Given the description of an element on the screen output the (x, y) to click on. 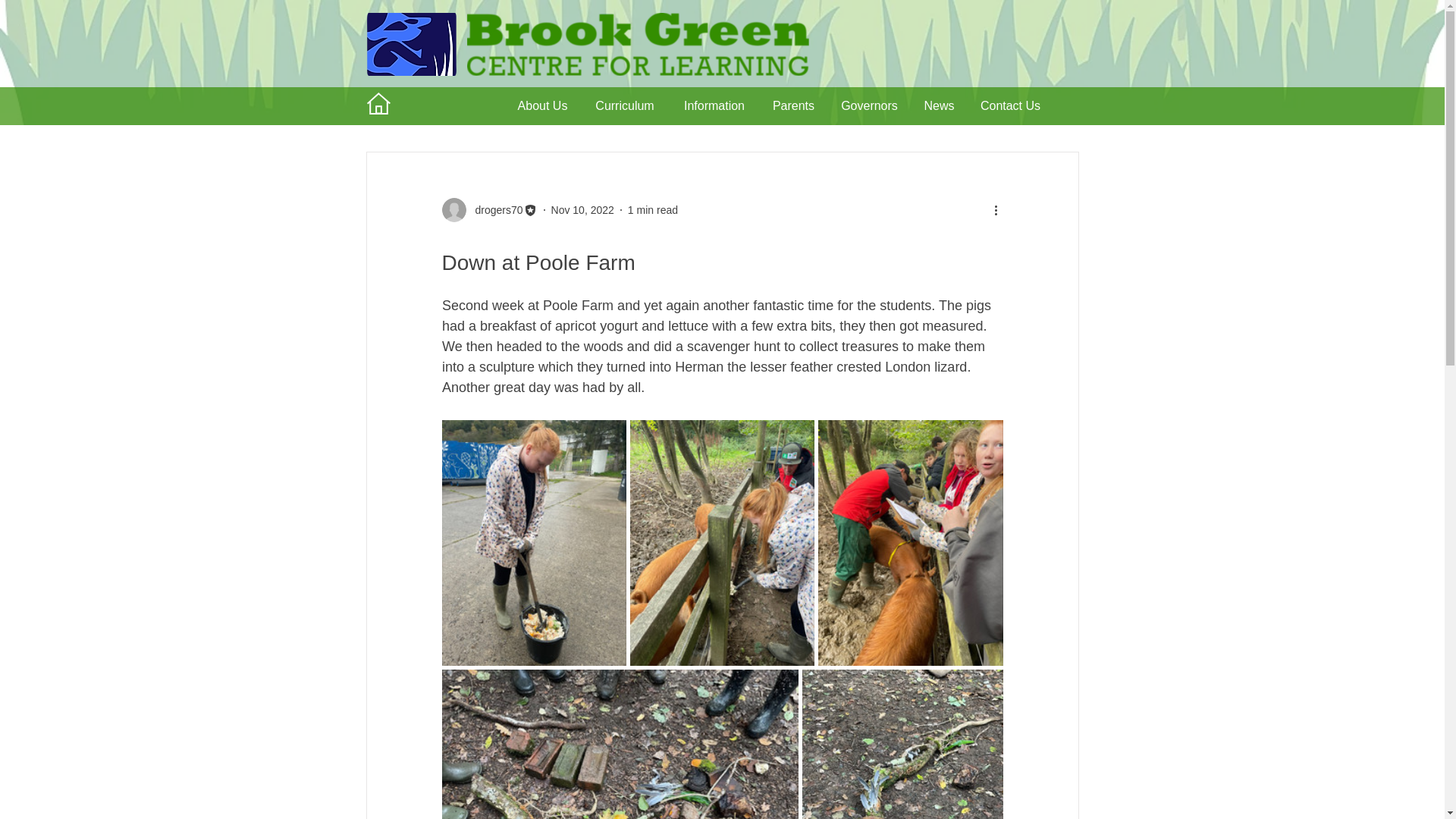
Nov 10, 2022 (582, 209)
About Us (541, 105)
drogers70 (493, 209)
1 min read (652, 209)
